Given the description of an element on the screen output the (x, y) to click on. 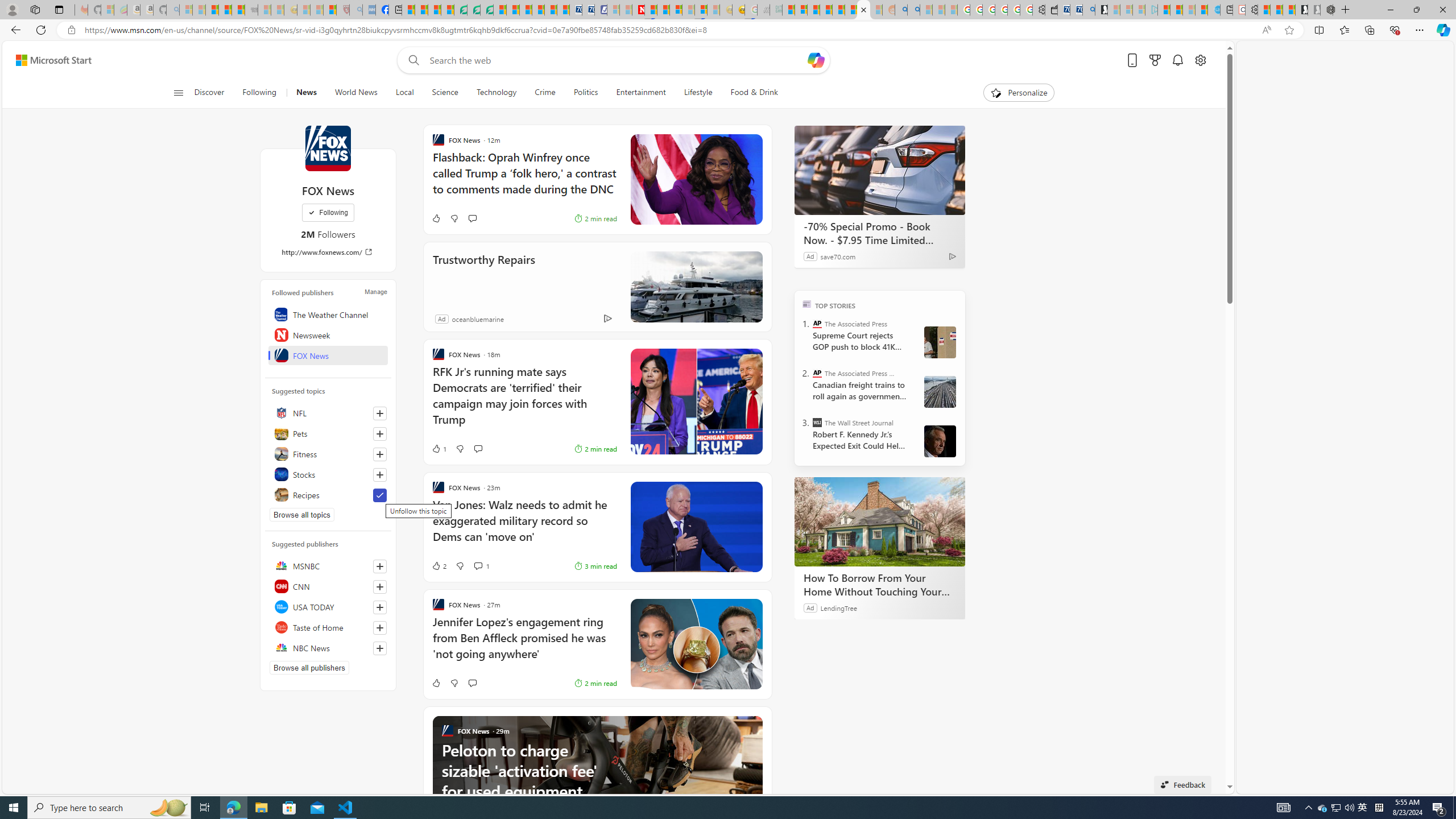
Trustworthy Repairs (483, 274)
